Given the description of an element on the screen output the (x, y) to click on. 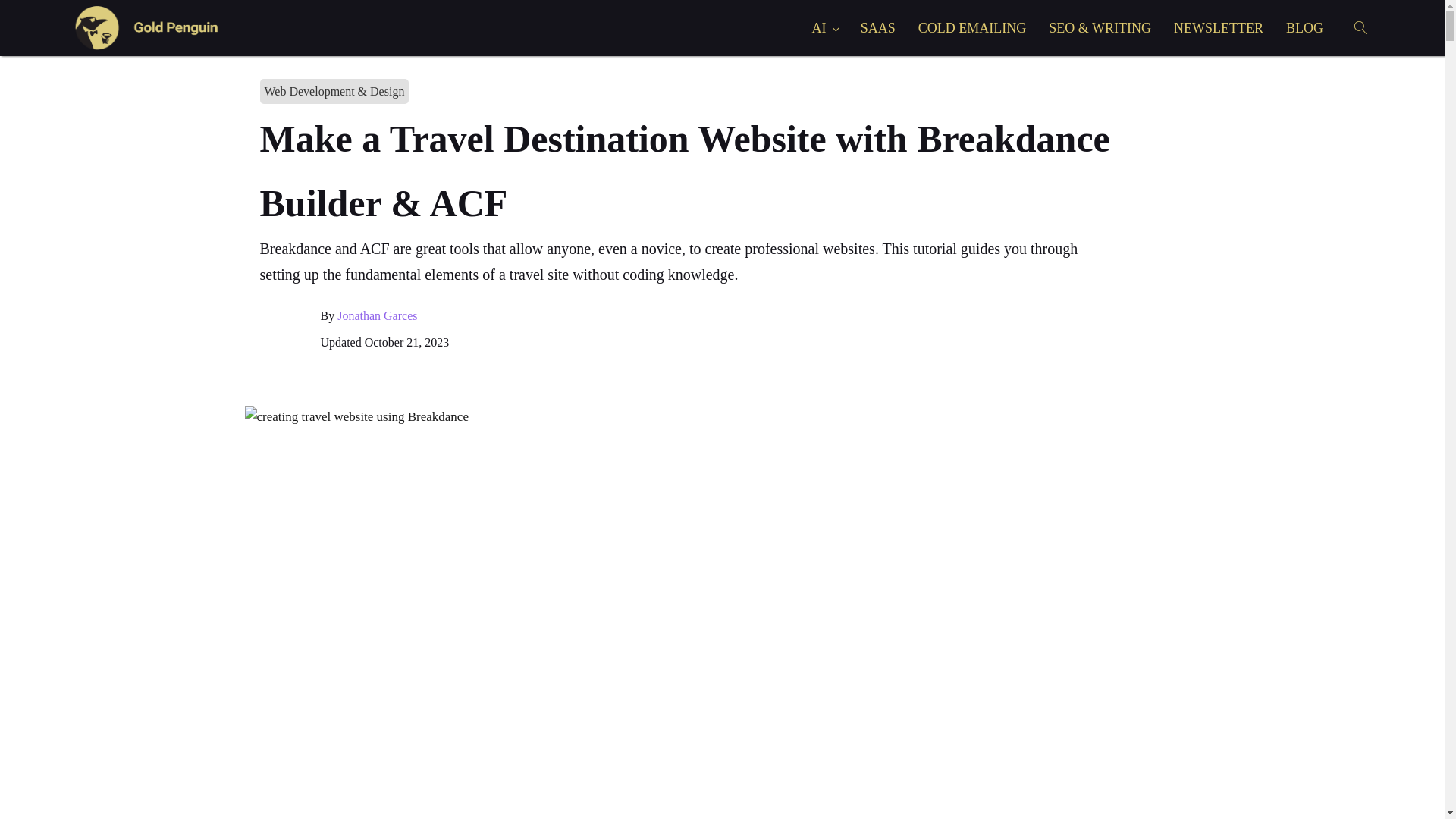
SAAS (877, 28)
Jonathan Garces (376, 315)
BLOG (1305, 28)
NEWSLETTER (1218, 28)
AI (824, 28)
Search (26, 9)
COLD EMAILING (971, 28)
